Given the description of an element on the screen output the (x, y) to click on. 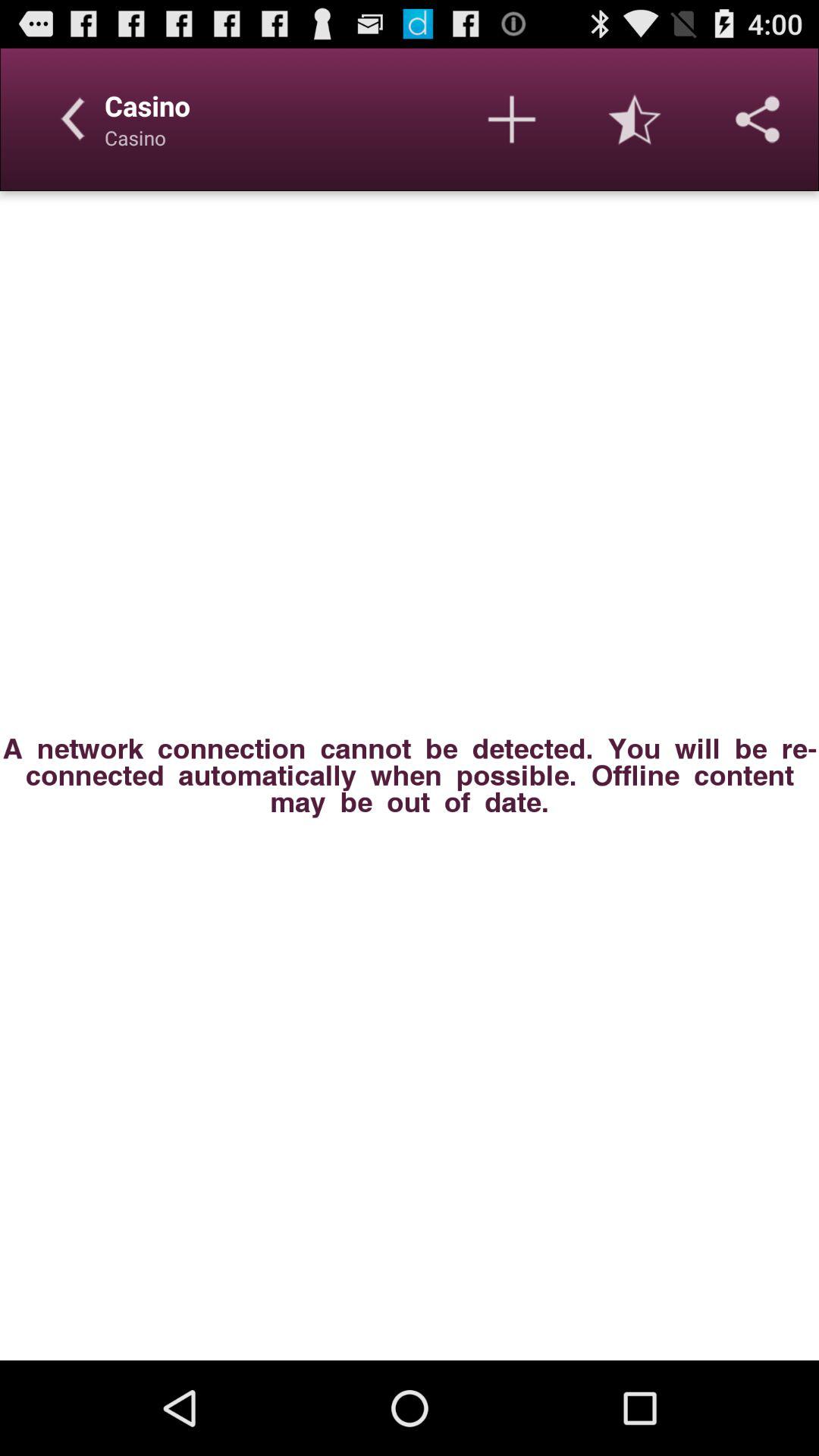
share (757, 119)
